Given the description of an element on the screen output the (x, y) to click on. 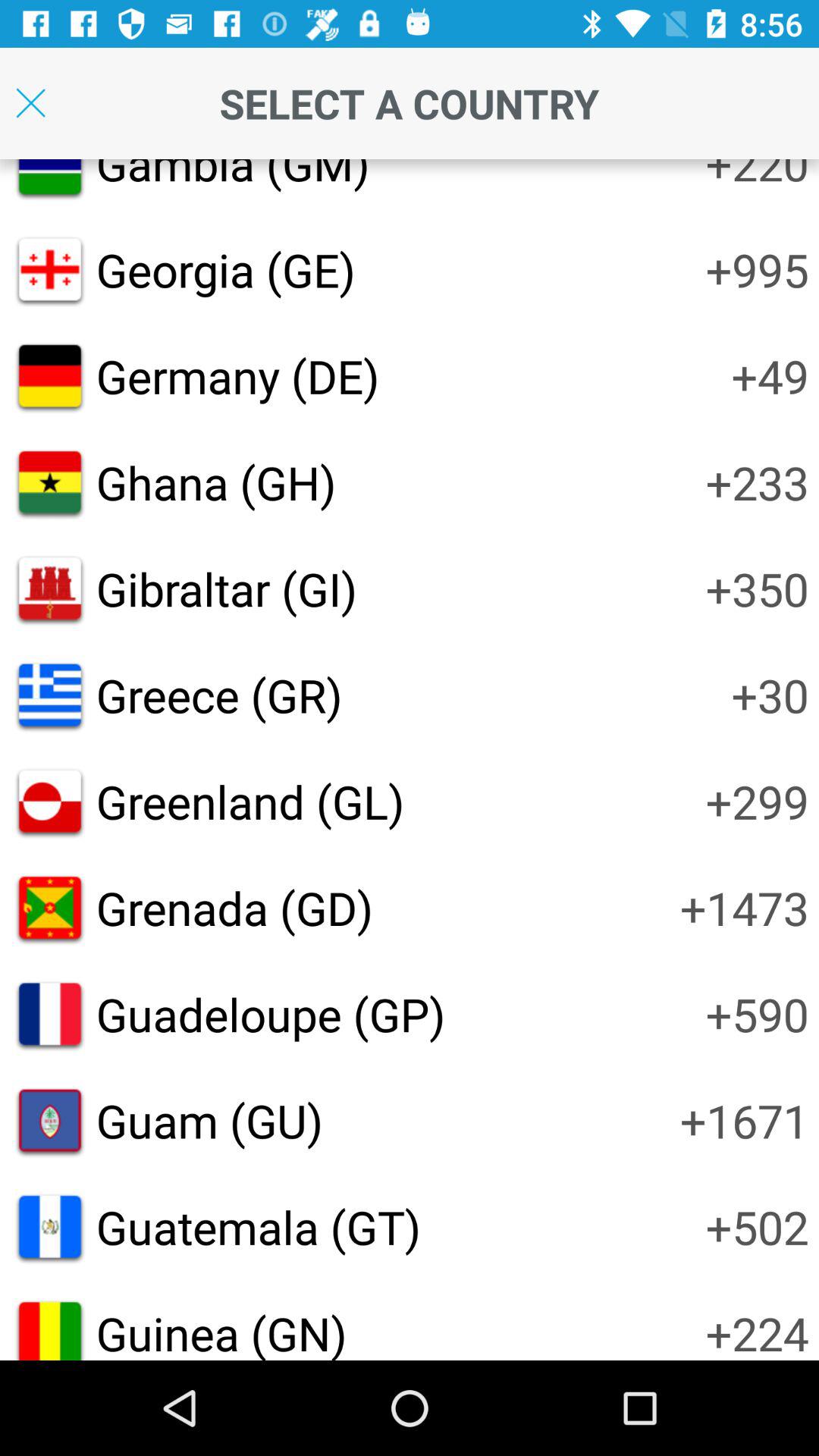
swipe to the +49 icon (769, 375)
